Given the description of an element on the screen output the (x, y) to click on. 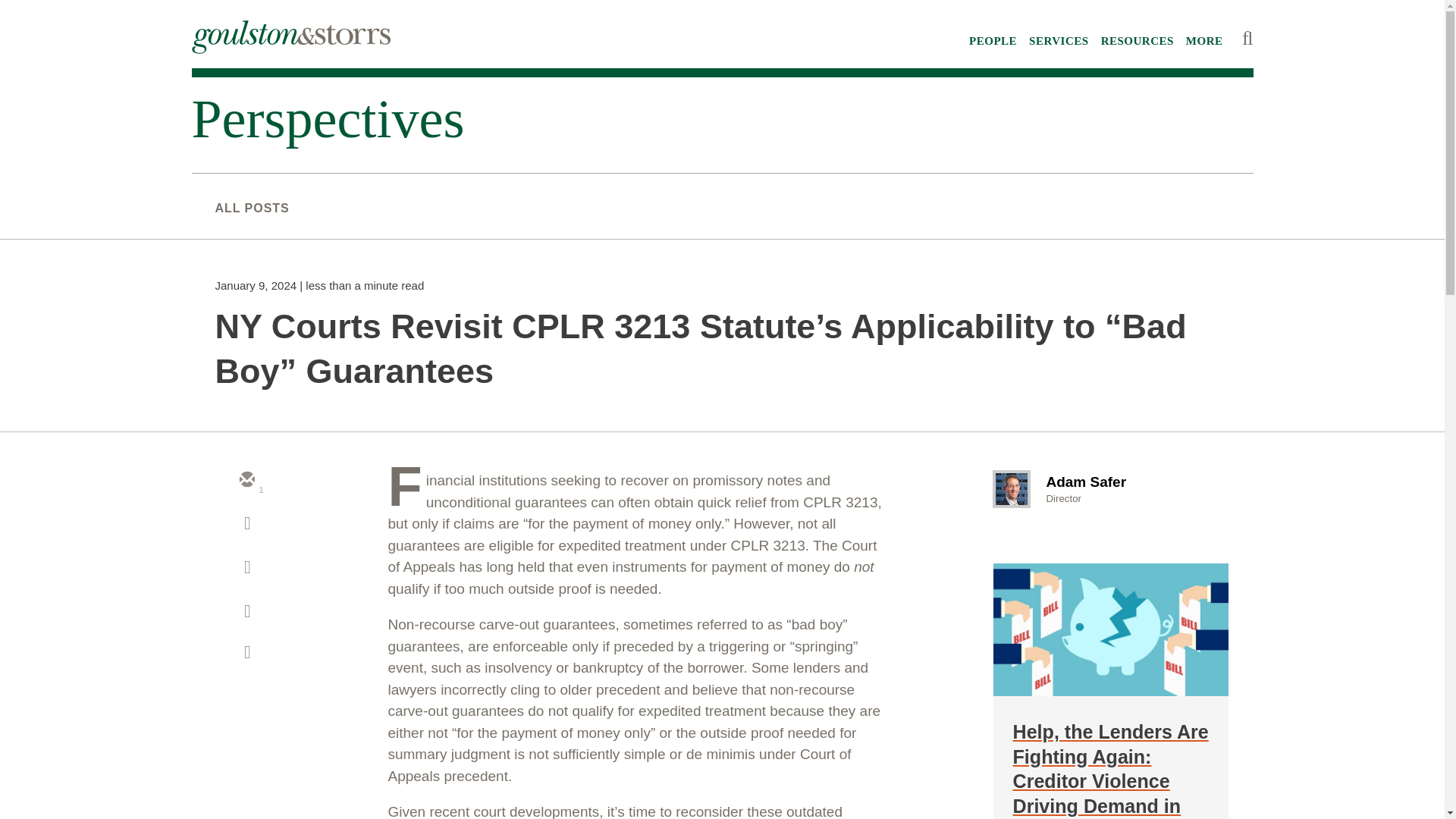
PEOPLE (992, 40)
MORE (1203, 40)
SERVICES (1058, 40)
RESOURCES (1136, 40)
